Given the description of an element on the screen output the (x, y) to click on. 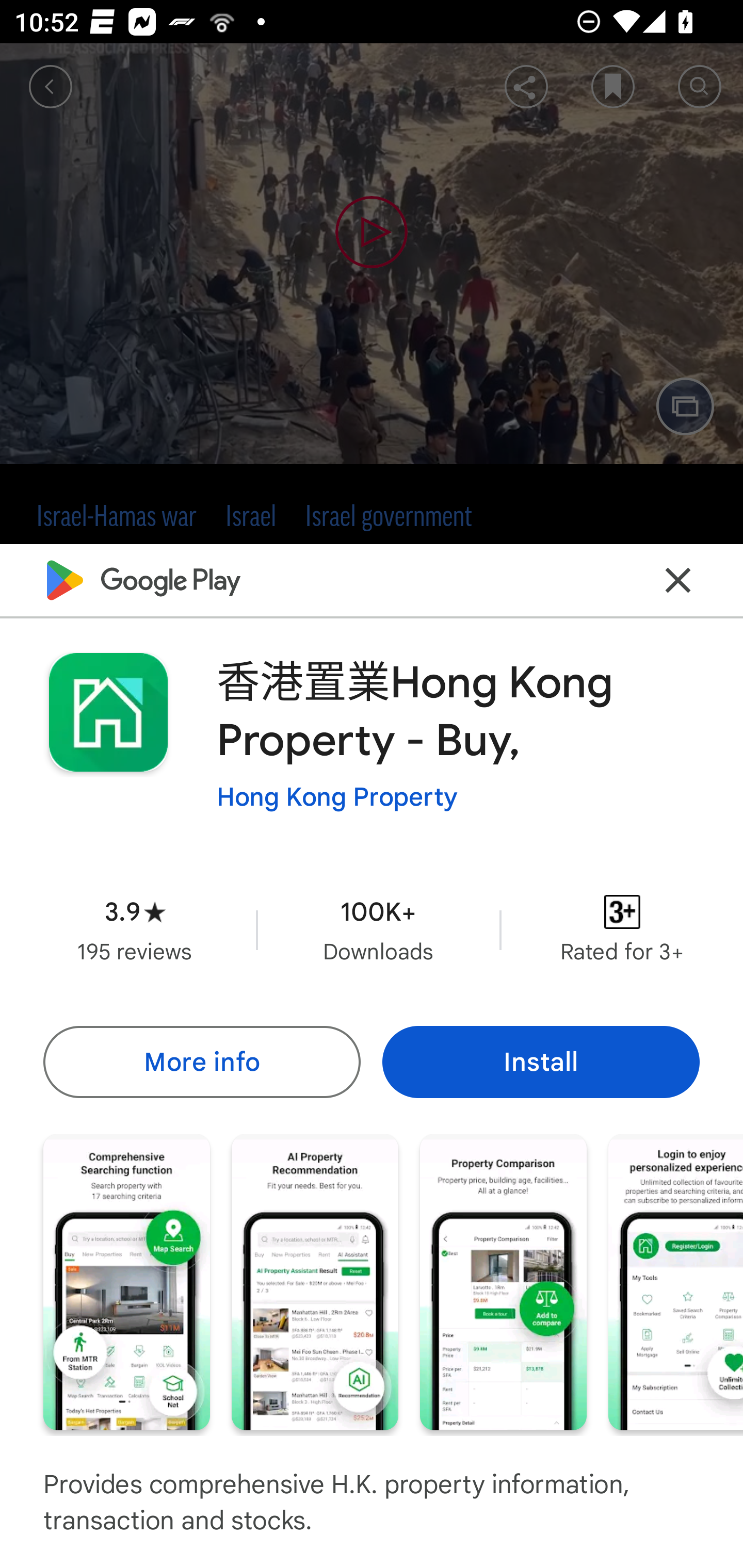
Close (677, 580)
Hong Kong Property (337, 796)
More info (201, 1061)
Install (540, 1061)
Screenshot "1" of "7" (126, 1281)
Screenshot "2" of "7" (314, 1281)
Screenshot "3" of "7" (502, 1281)
Screenshot "4" of "7" (675, 1281)
